Given the description of an element on the screen output the (x, y) to click on. 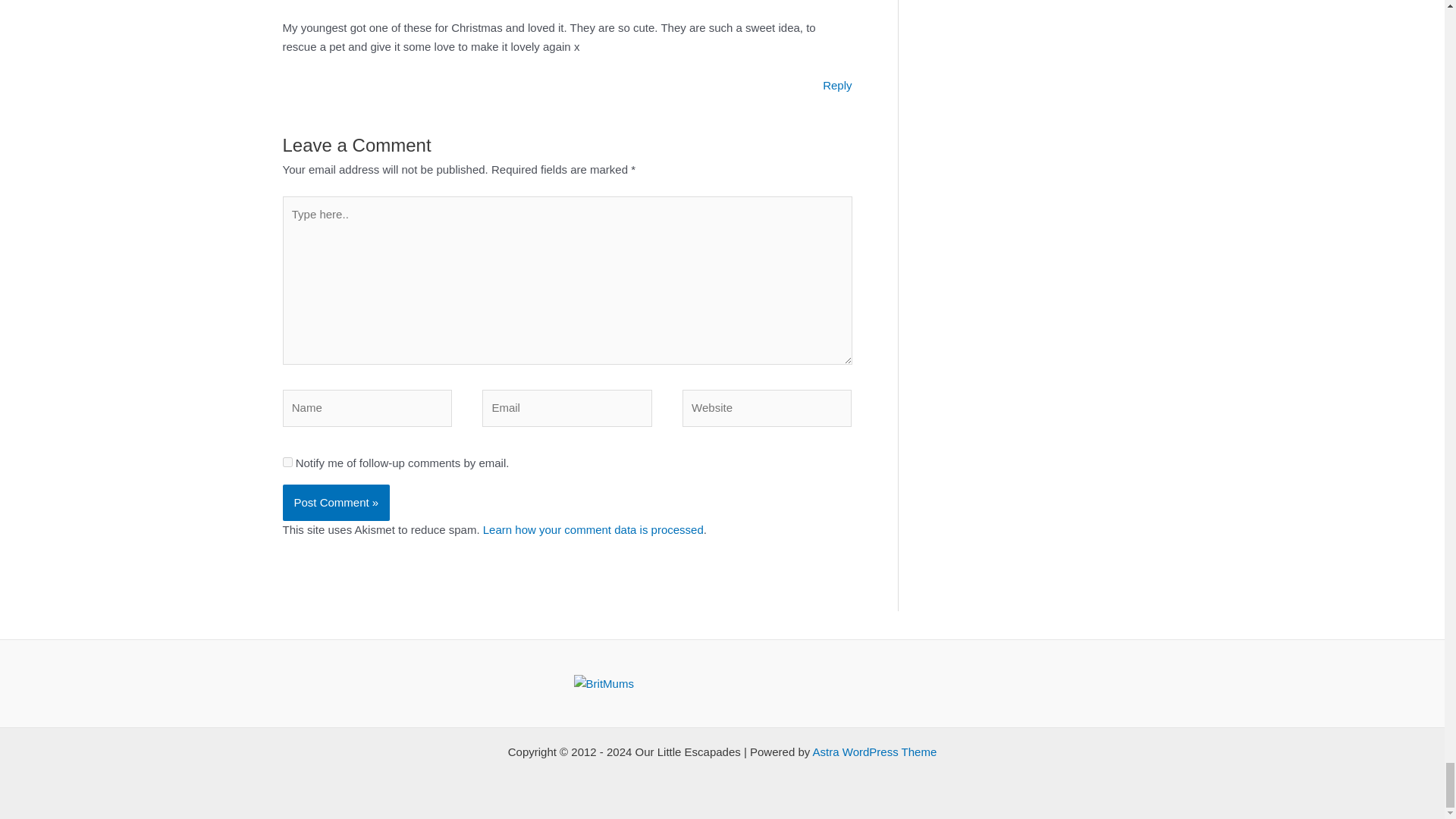
BritMums (603, 682)
subscribe (287, 461)
